Given the description of an element on the screen output the (x, y) to click on. 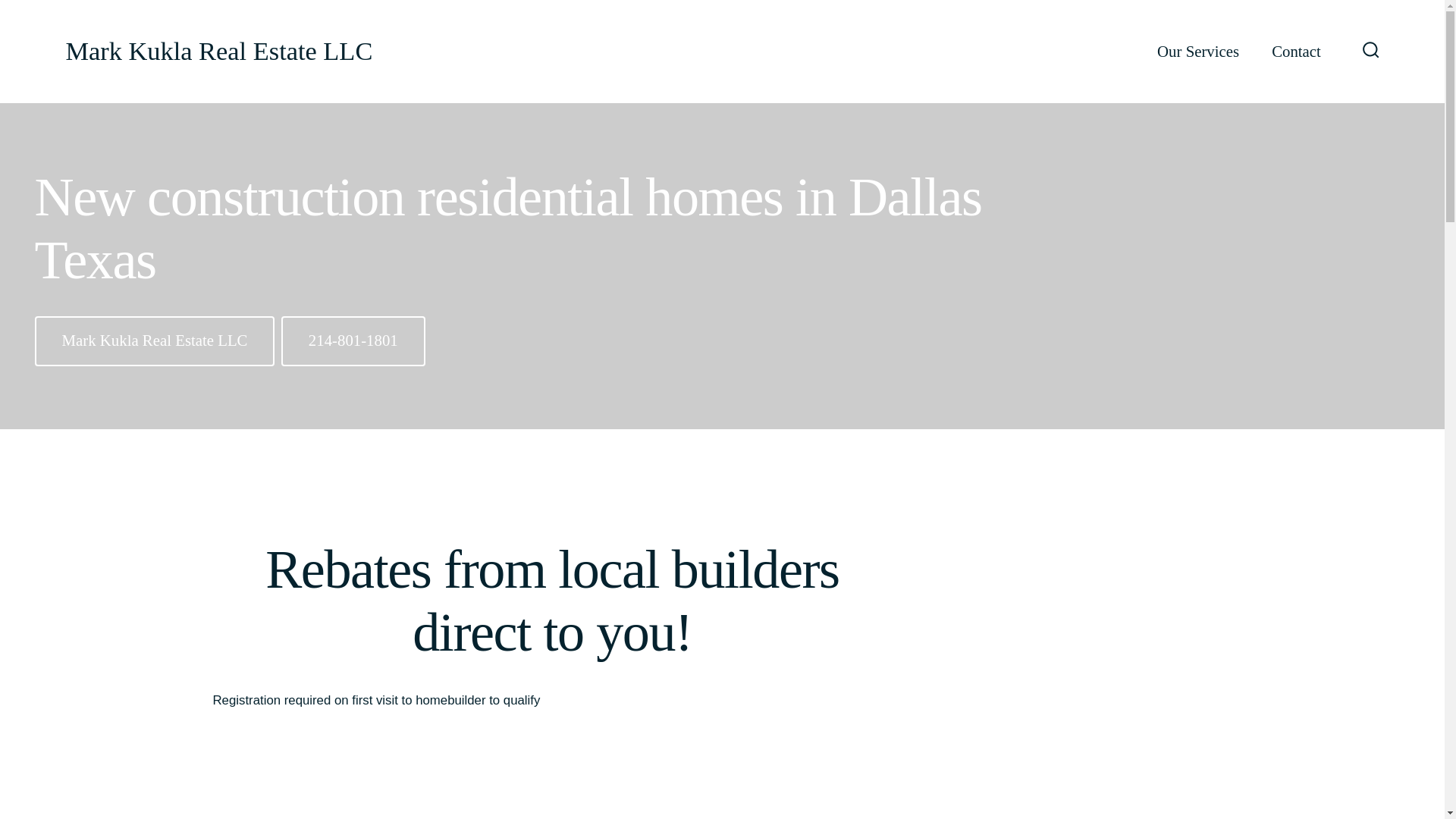
214-801-1801 (353, 341)
Mark Kukla Real Estate LLC (154, 341)
Search Toggle (1371, 50)
Mark Kukla Real Estate LLC (218, 51)
Contact (1295, 51)
Our Services (1198, 51)
